Given the description of an element on the screen output the (x, y) to click on. 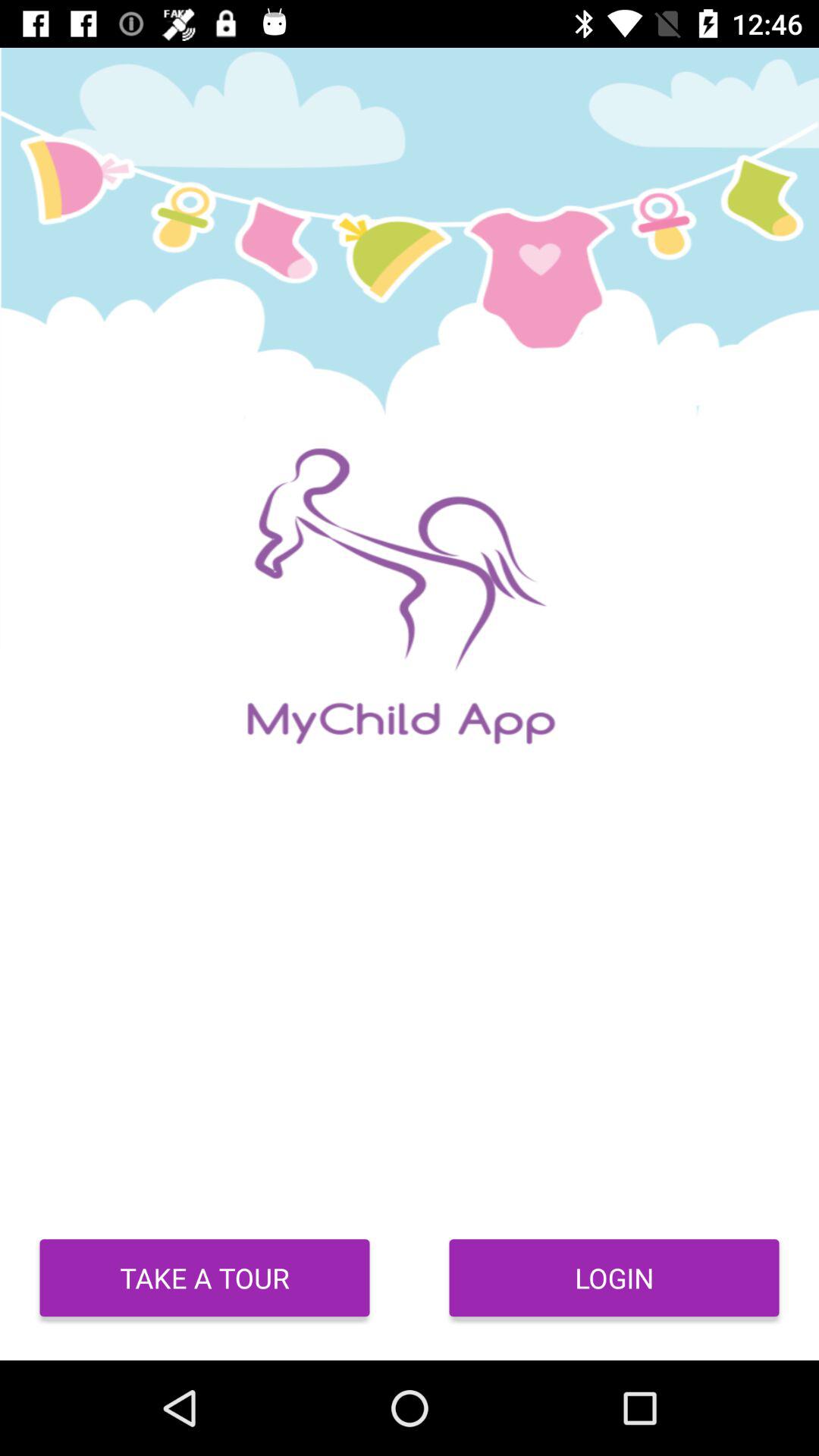
swipe to the take a tour icon (204, 1277)
